Given the description of an element on the screen output the (x, y) to click on. 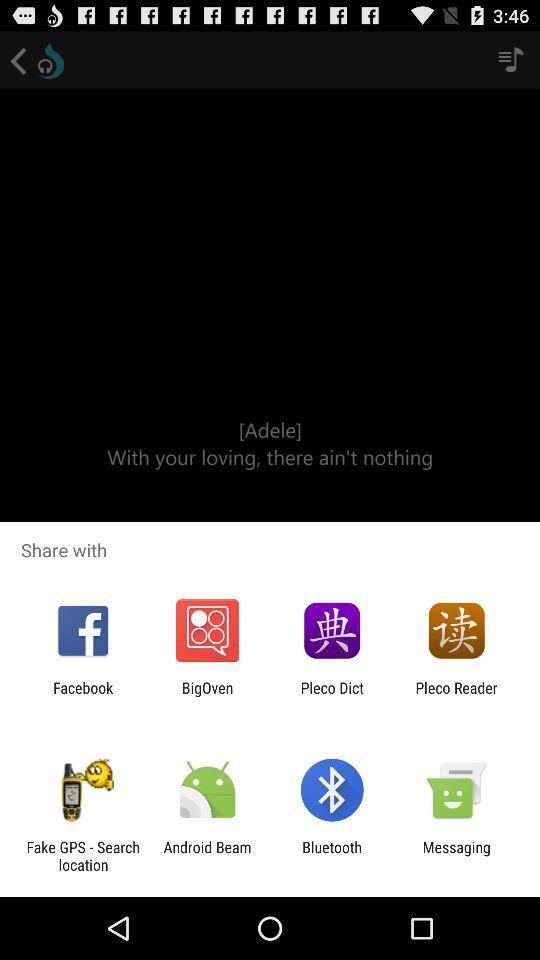
select the item next to the android beam item (331, 856)
